Given the description of an element on the screen output the (x, y) to click on. 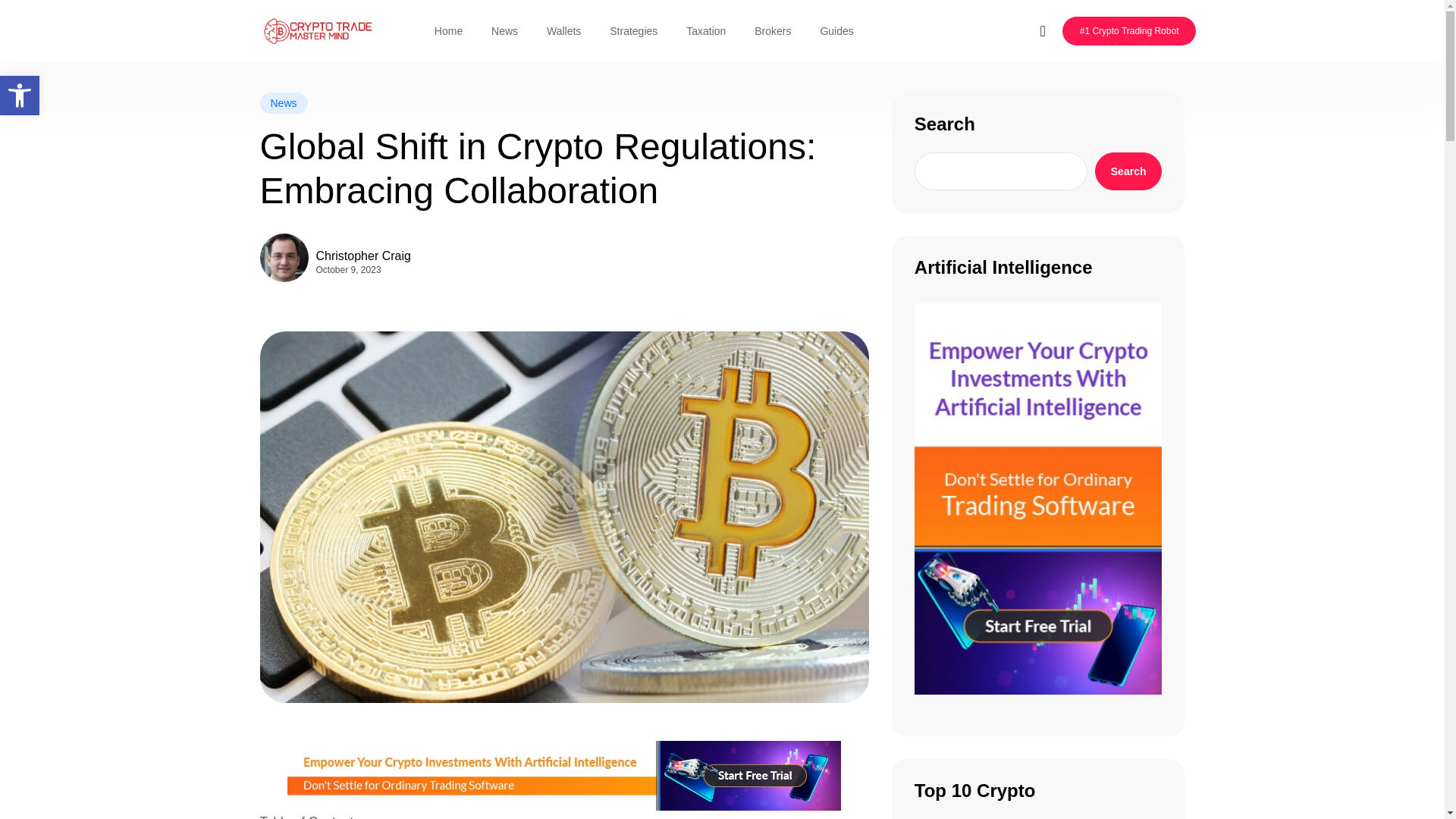
News (283, 102)
Wallets (564, 31)
Accessibility Tools (19, 95)
Home (449, 31)
Brokers (772, 31)
Guides (836, 31)
Taxation (705, 31)
Search (1127, 171)
